Given the description of an element on the screen output the (x, y) to click on. 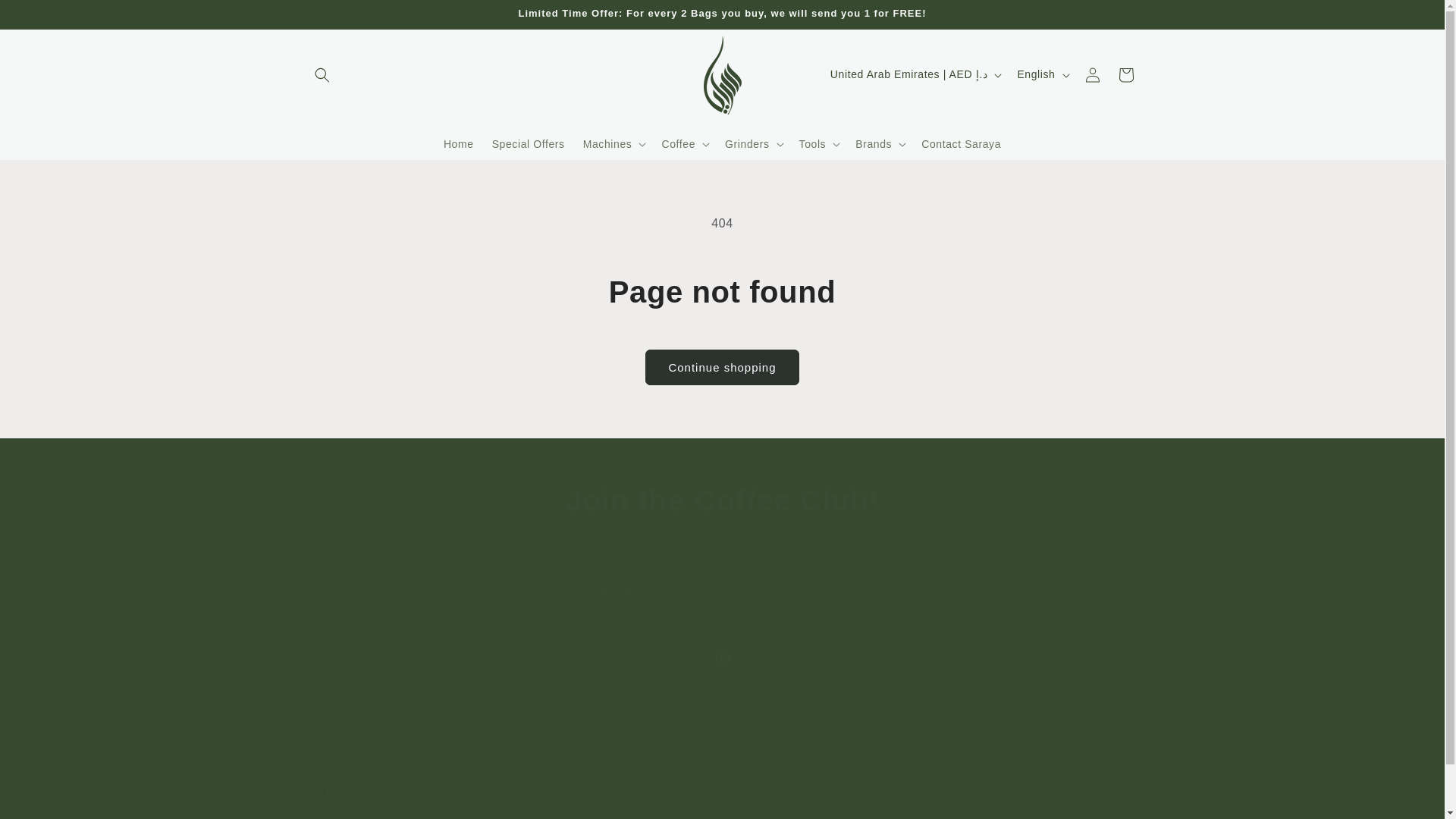
Skip to content (45, 17)
Instagram (721, 657)
Join the Coffee Club! (721, 500)
Email (722, 590)
